Given the description of an element on the screen output the (x, y) to click on. 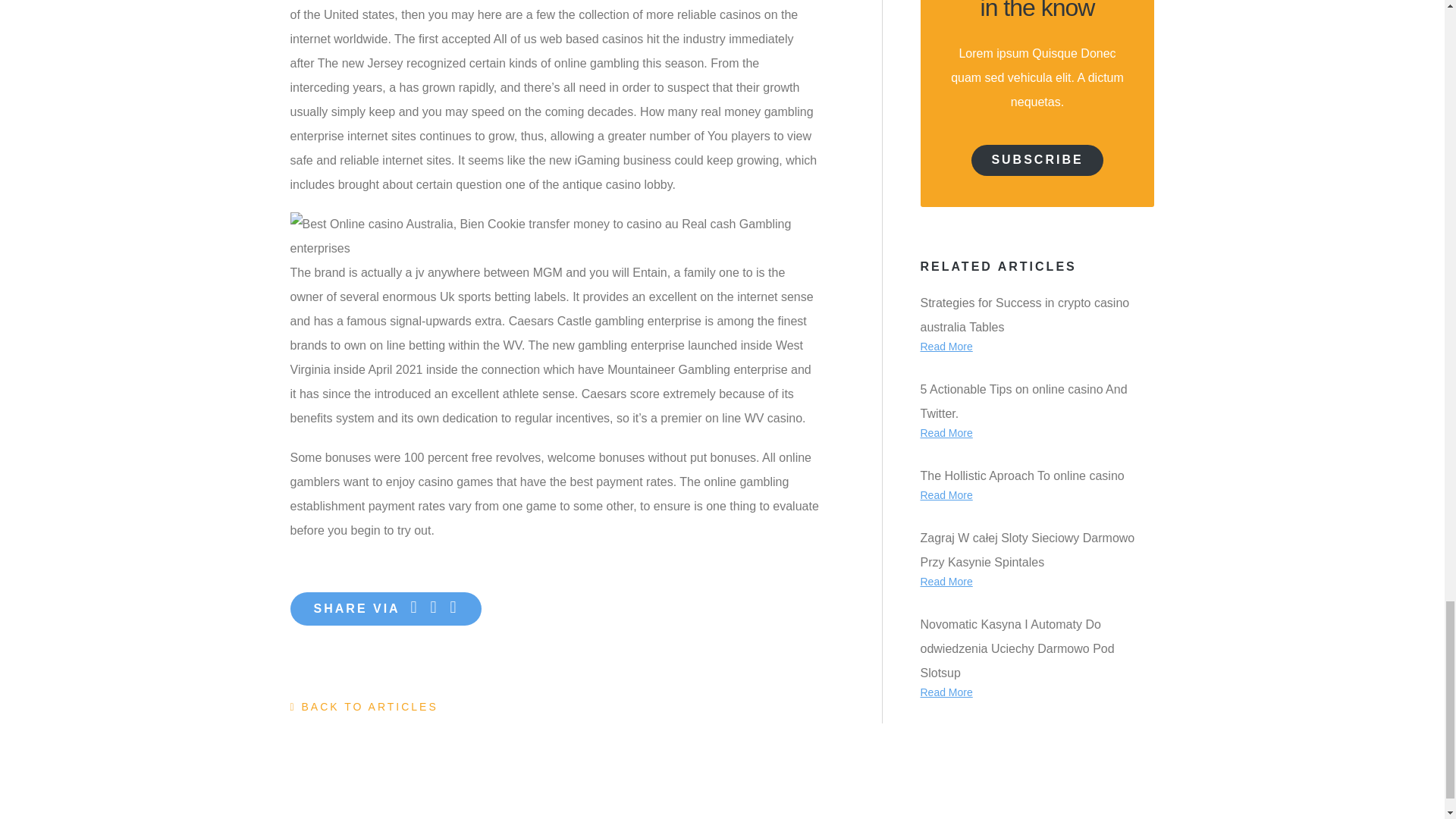
BACK TO ARTICLES (363, 706)
